Given the description of an element on the screen output the (x, y) to click on. 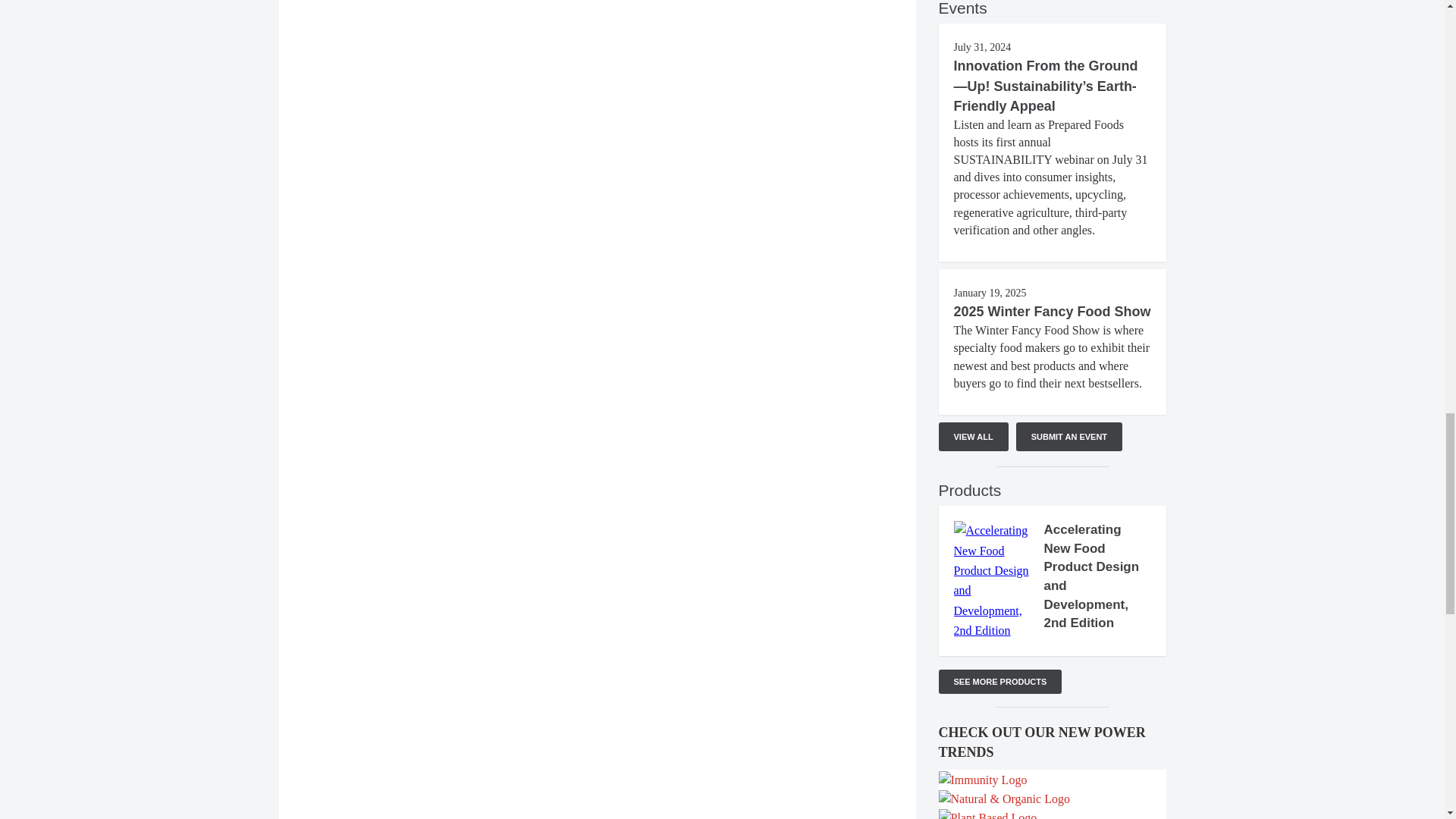
2025 Winter Fancy Food Show (1052, 311)
